Given the description of an element on the screen output the (x, y) to click on. 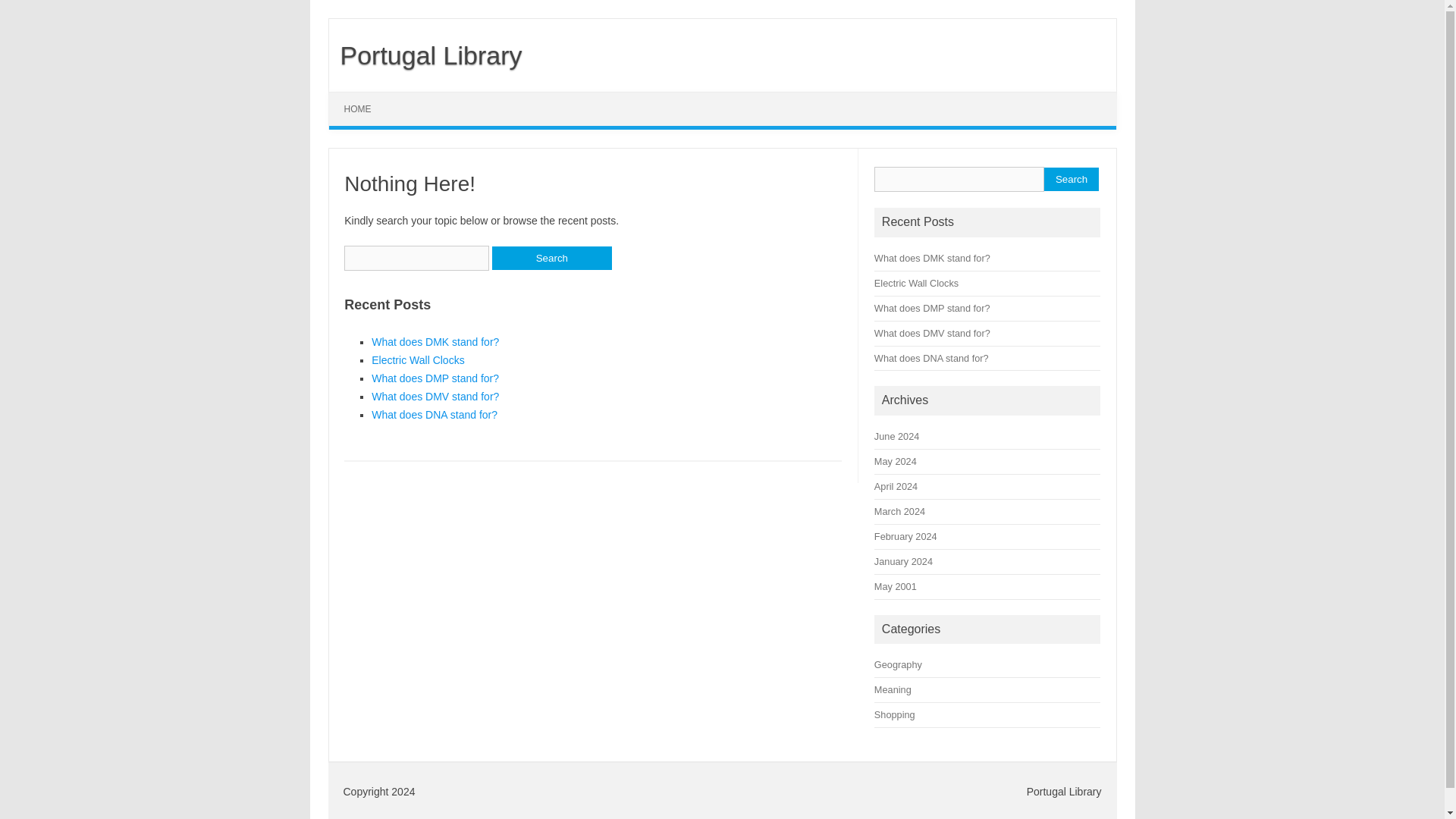
Shopping (895, 714)
Portugal Library (425, 54)
June 2024 (896, 436)
What does DMK stand for? (932, 257)
What does DMP stand for? (435, 378)
What does DNA stand for? (931, 357)
HOME (358, 109)
Search (551, 258)
May 2001 (896, 586)
Geography (898, 664)
